Given the description of an element on the screen output the (x, y) to click on. 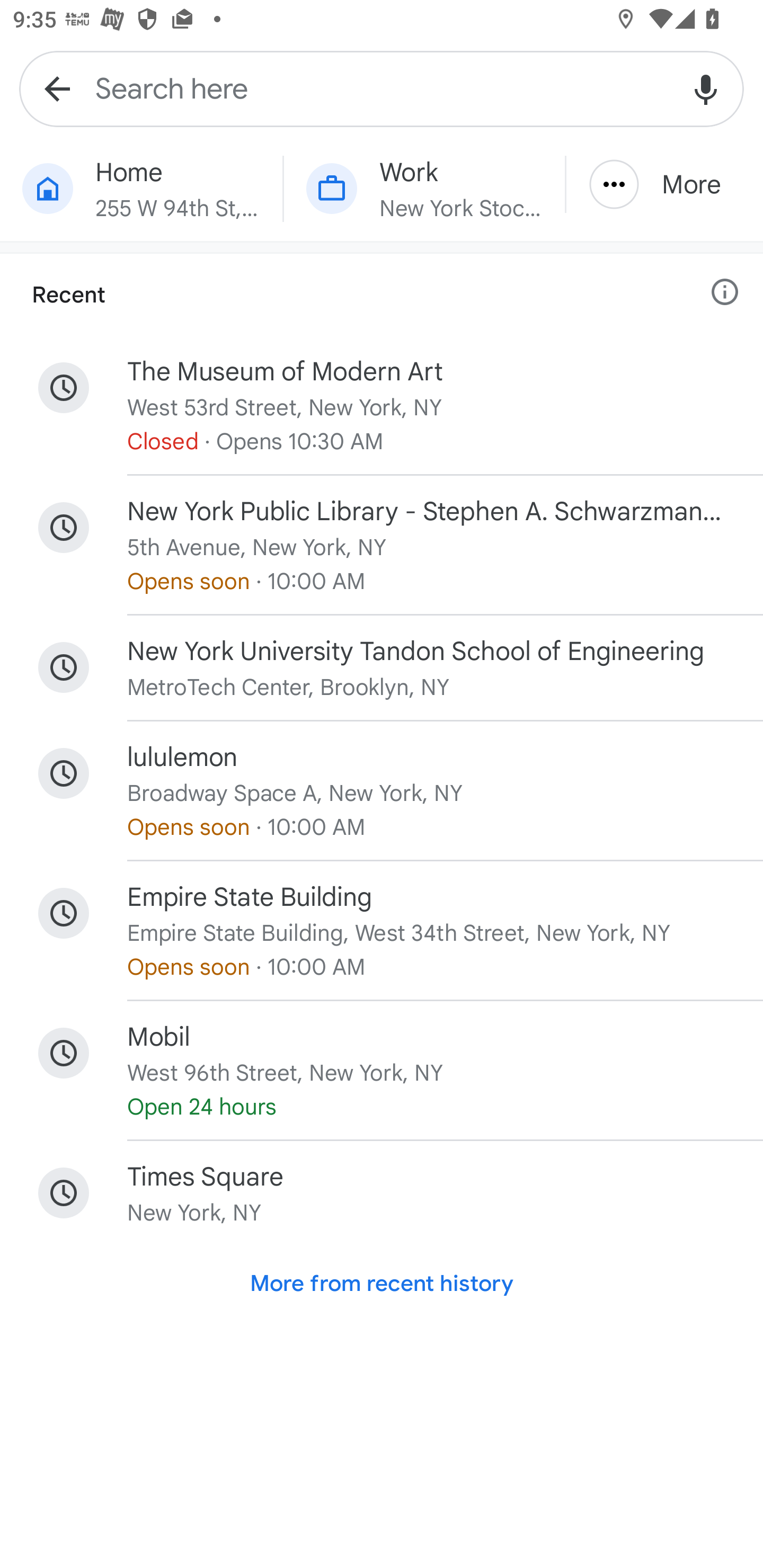
Navigate up (57, 88)
Search here (381, 88)
Voice search (705, 88)
More (664, 184)
Mobil West 96th Street, New York, NY Open 24 hours (381, 1070)
Times Square New York, NY (381, 1192)
More from recent history (381, 1282)
